Given the description of an element on the screen output the (x, y) to click on. 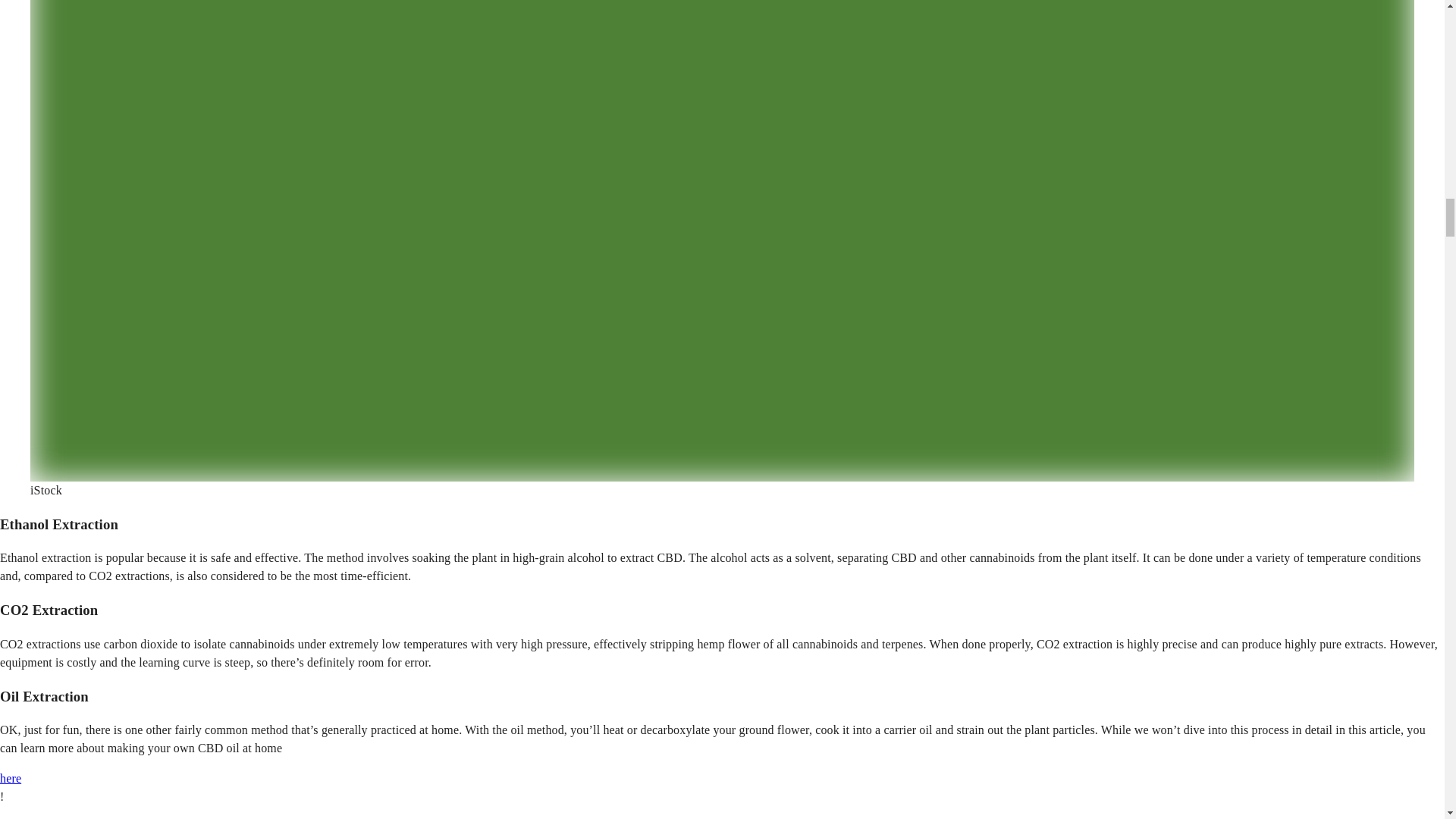
here (10, 778)
